Given the description of an element on the screen output the (x, y) to click on. 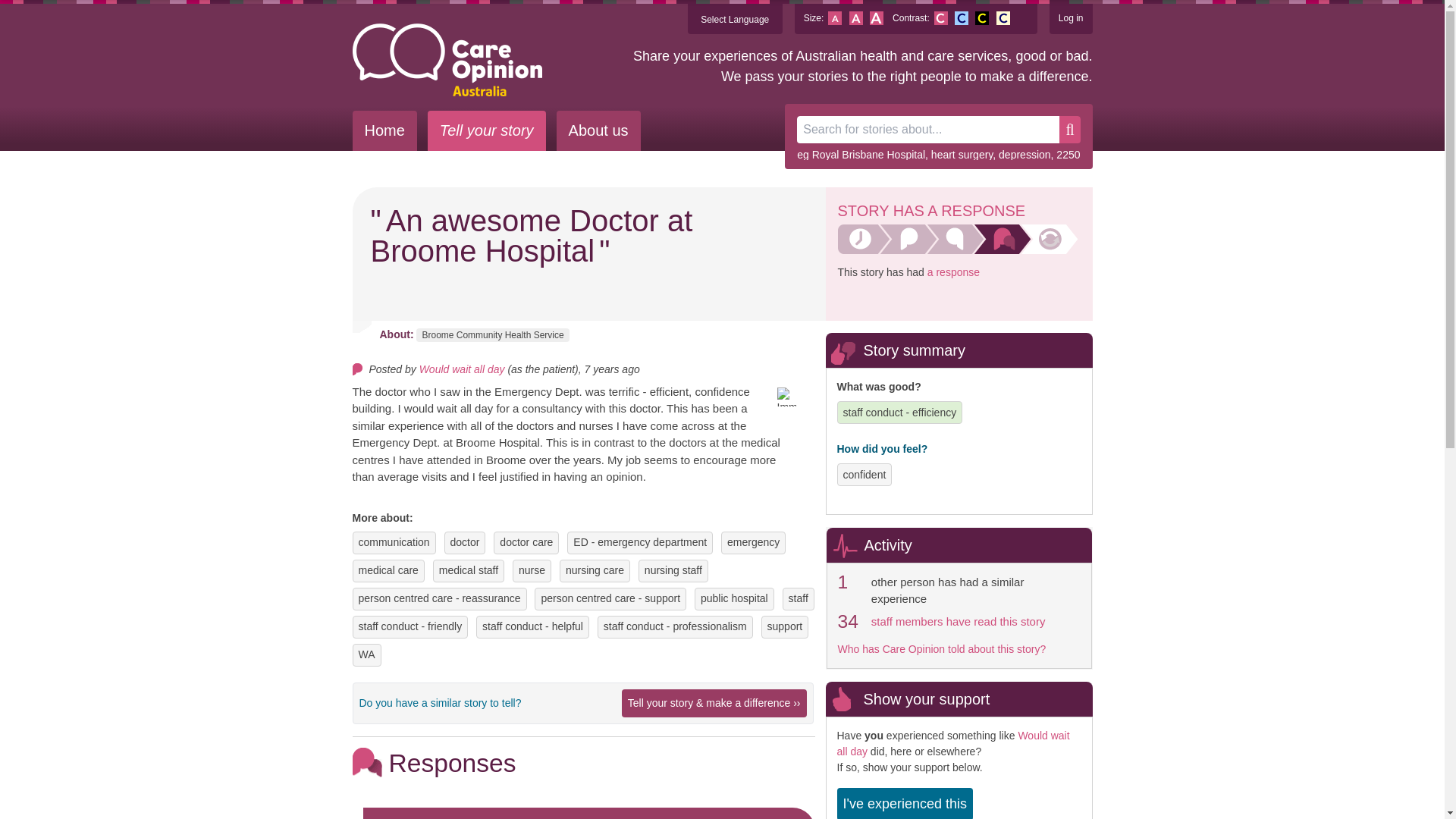
Search for stories about... (927, 129)
blue (961, 18)
Broome Community Health Service (492, 335)
public hospital (734, 598)
See the response below (953, 272)
Home (384, 130)
highviz (981, 18)
medical staff (468, 570)
doctor (464, 542)
Care Opinion home page (446, 59)
Log in (1070, 18)
Larger (876, 18)
emergency (752, 542)
doctor care (526, 542)
Blue (961, 18)
